Given the description of an element on the screen output the (x, y) to click on. 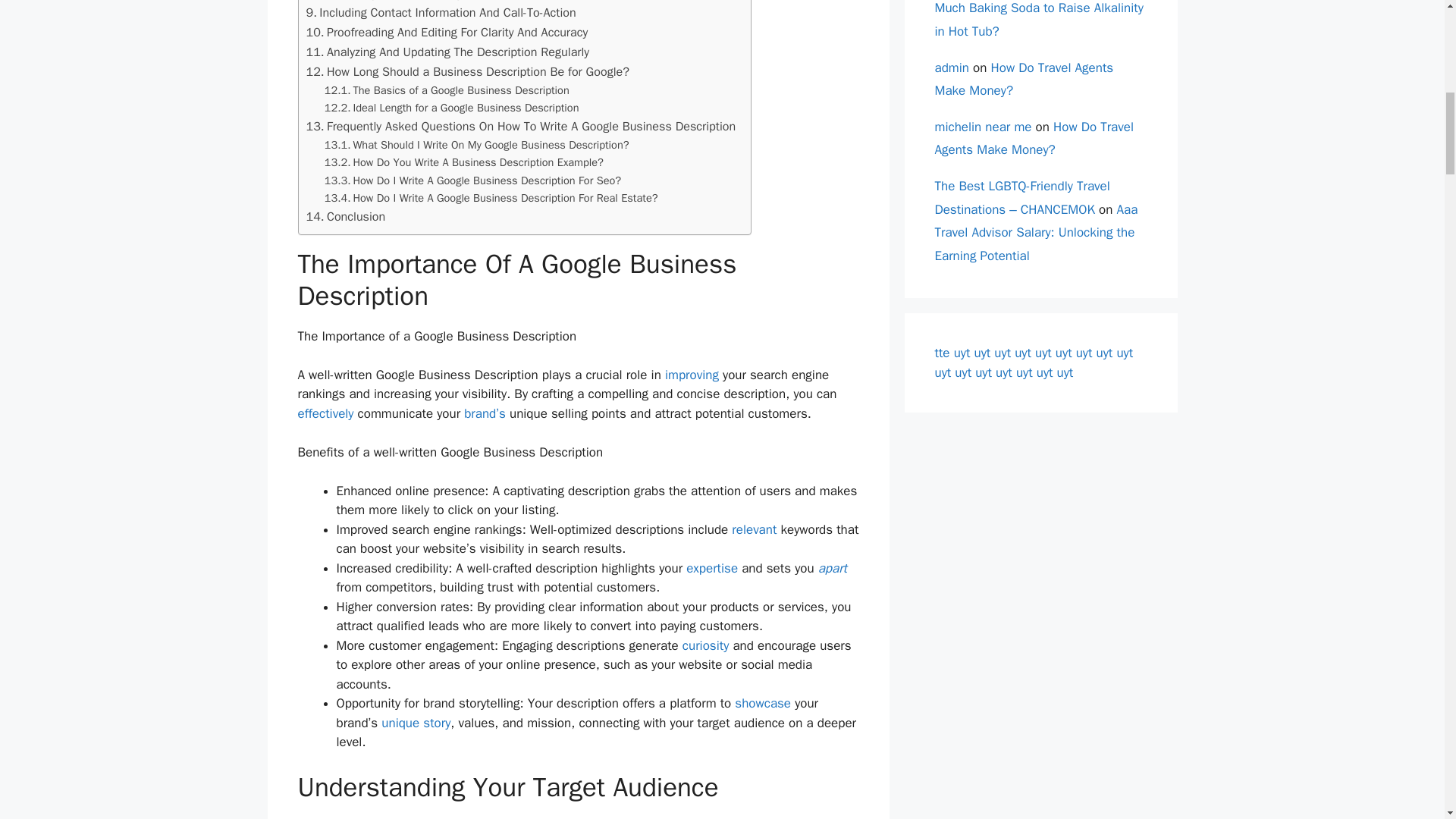
How Do I Write A Google Business Description For Seo? (472, 180)
Formatting And Structuring The Description (426, 2)
The Basics of a Google Business Description (446, 90)
relevant (754, 529)
Formatting And Structuring The Description (426, 2)
Ideal Length for a Google Business Description (451, 108)
Including Contact Information And Call-To-Action (440, 12)
How Long Should a Business Description Be for Google? (467, 71)
Proofreading And Editing For Clarity And Accuracy (446, 32)
Analyzing And Updating The Description Regularly (447, 52)
The Basics of a Google Business Description (446, 90)
What Should I Write On My Google Business Description? (476, 144)
improving (692, 374)
